Given the description of an element on the screen output the (x, y) to click on. 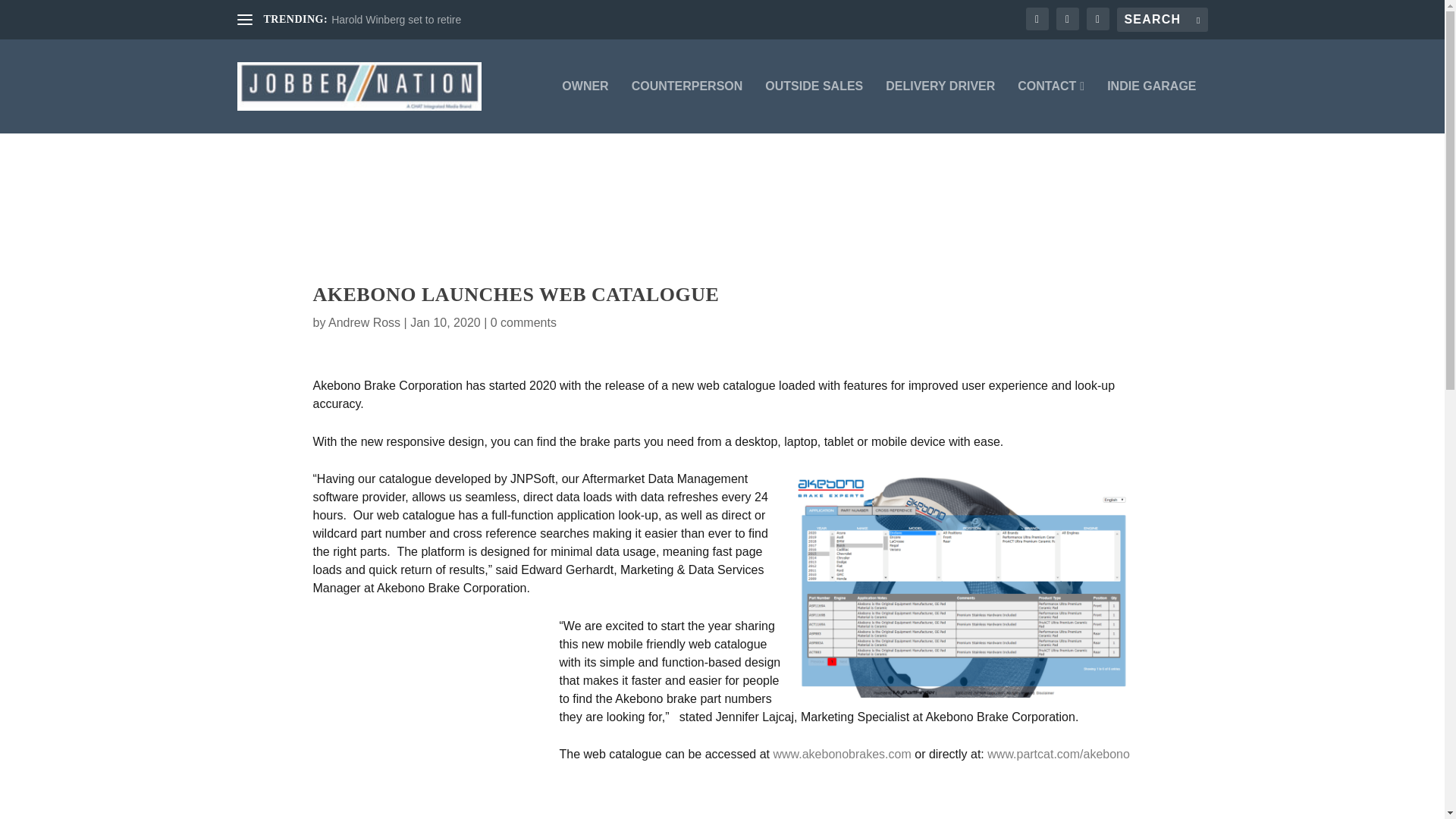
www.akebonobrakes.com (842, 753)
OUTSIDE SALES (814, 106)
CONTACT (1050, 106)
DELIVERY DRIVER (939, 106)
INDIE GARAGE (1150, 106)
Harold Winberg set to retire (396, 19)
COUNTERPERSON (686, 106)
Posts by Andrew Ross (364, 322)
Andrew Ross (364, 322)
3rd party ad content (721, 207)
